Given the description of an element on the screen output the (x, y) to click on. 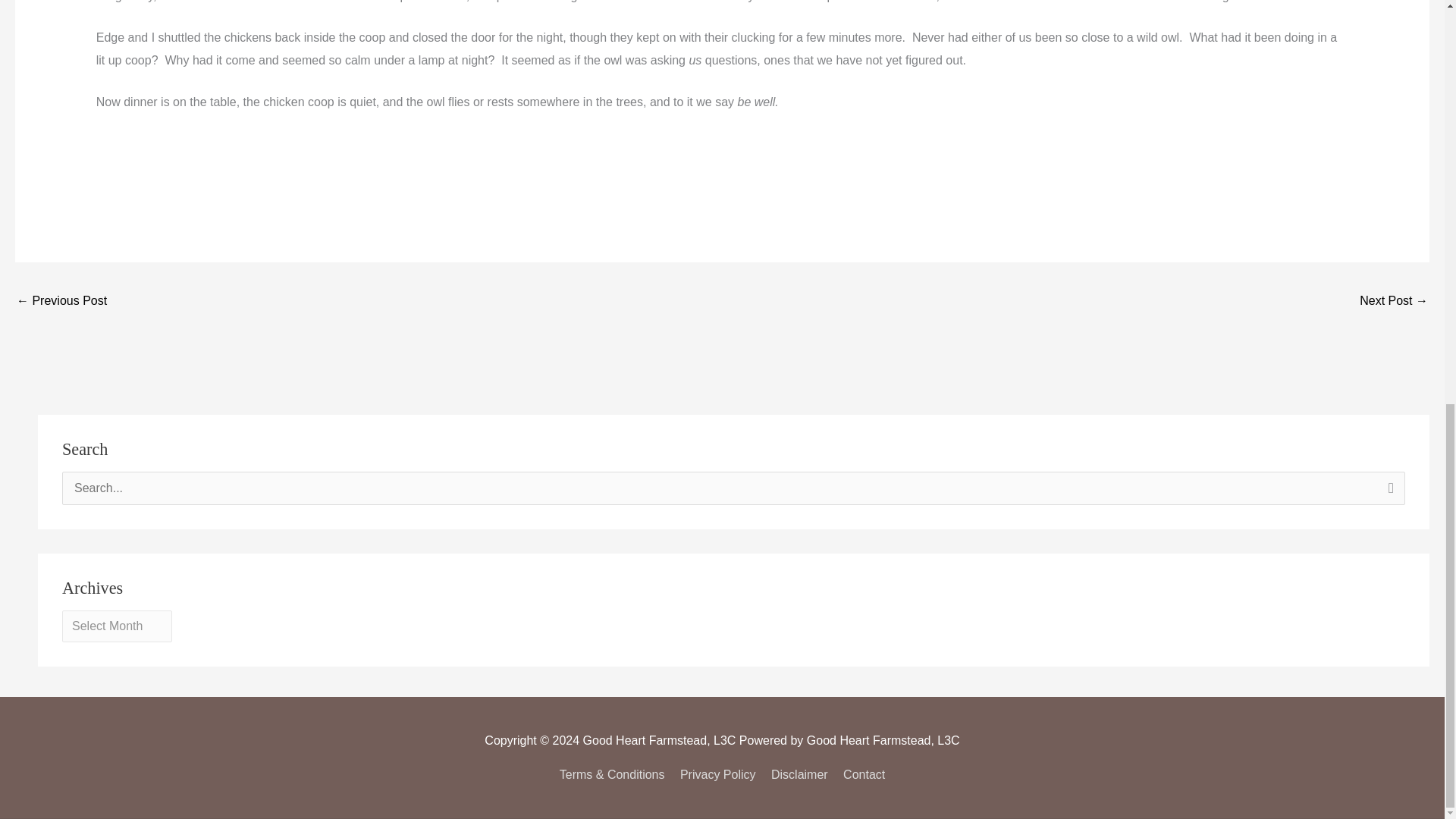
Contact (861, 774)
Farmstead 5K Success! (1393, 302)
Building in the Snow (61, 302)
Privacy Policy (717, 774)
Disclaimer (799, 774)
